Given the description of an element on the screen output the (x, y) to click on. 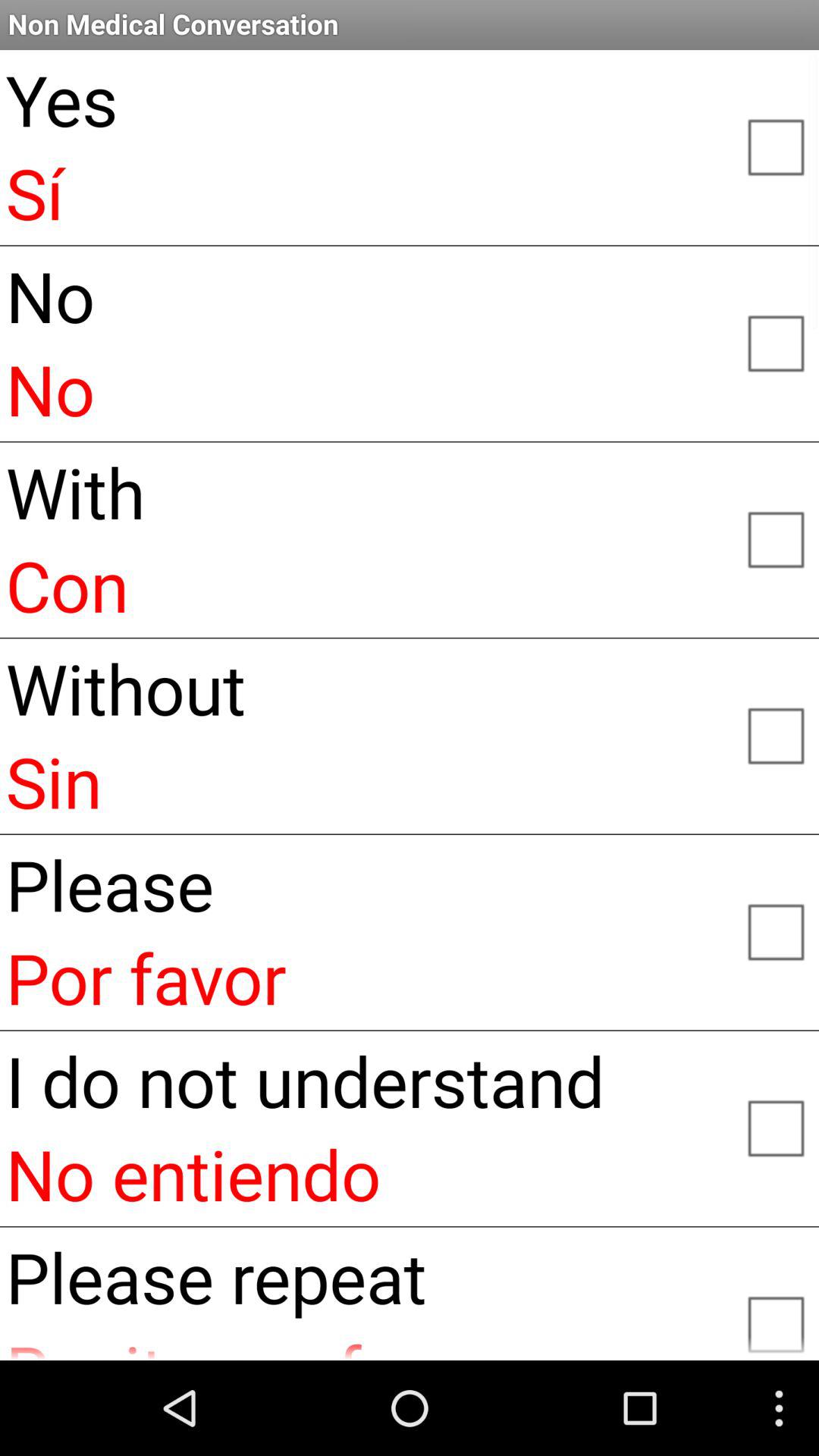
no (775, 342)
